Given the description of an element on the screen output the (x, y) to click on. 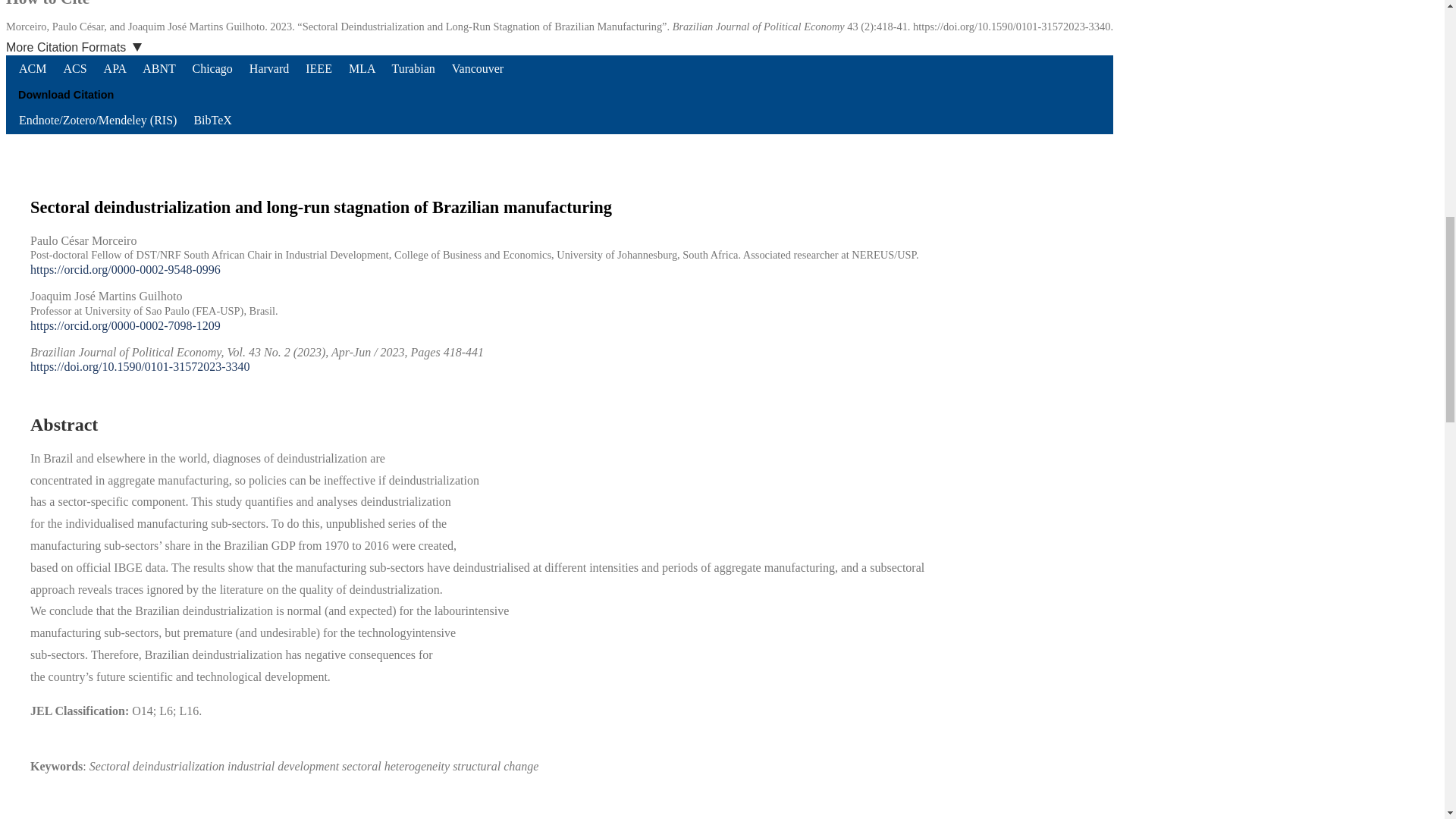
More Citation Formats (79, 47)
Chicago (212, 68)
ACM (33, 68)
MLA (363, 68)
ACS (76, 68)
ABNT (159, 68)
Turabian (415, 68)
APA (116, 68)
Harvard (270, 68)
IEEE (320, 68)
